Given the description of an element on the screen output the (x, y) to click on. 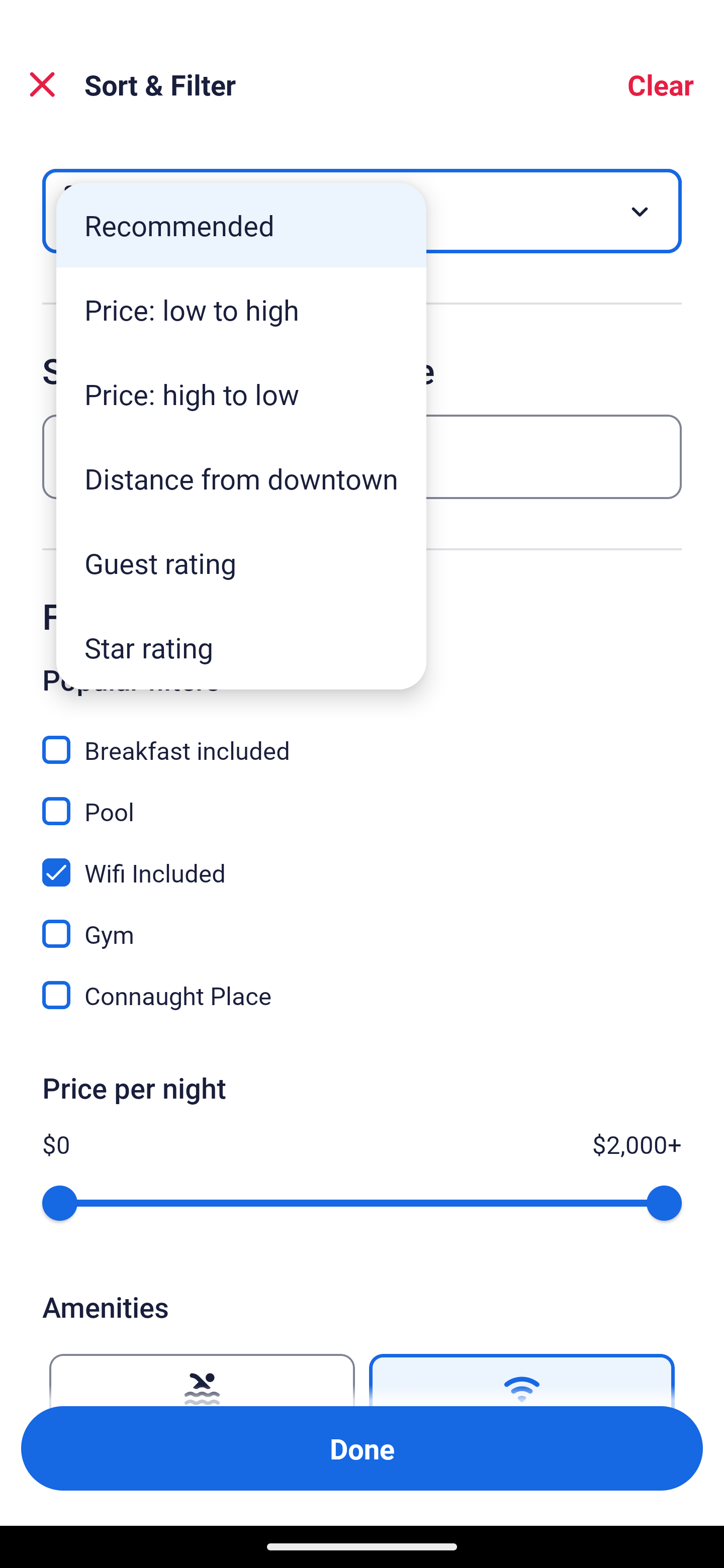
Price: low to high (241, 309)
Price: high to low (241, 393)
Distance from downtown (241, 477)
Guest rating (241, 562)
Star rating (241, 647)
